Given the description of an element on the screen output the (x, y) to click on. 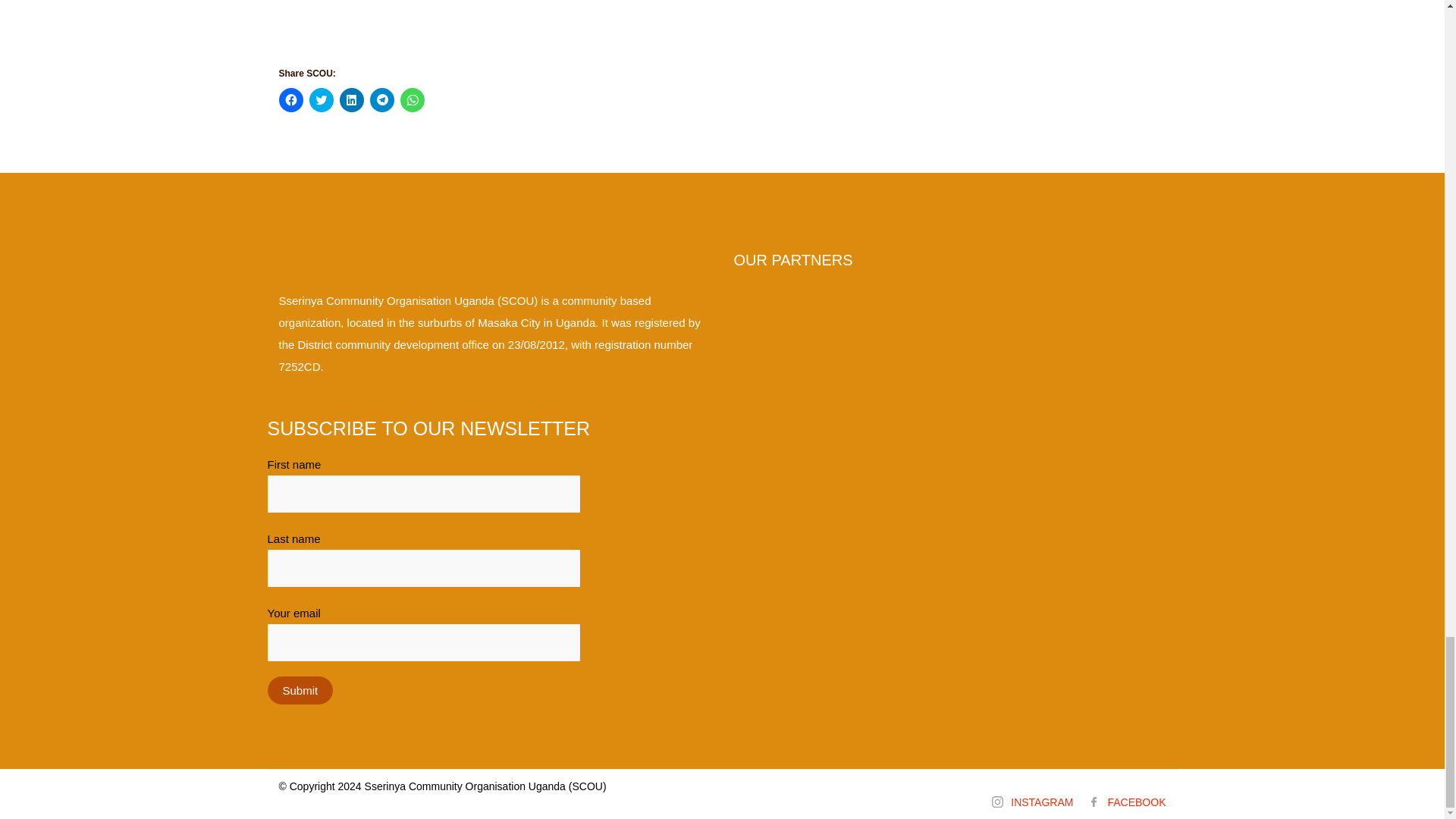
Click to share on Telegram (381, 99)
Click to share on LinkedIn (351, 99)
Click to share on Twitter (320, 99)
Click to share on WhatsApp (412, 99)
Submit (299, 690)
Click to share on Facebook (290, 99)
